Given the description of an element on the screen output the (x, y) to click on. 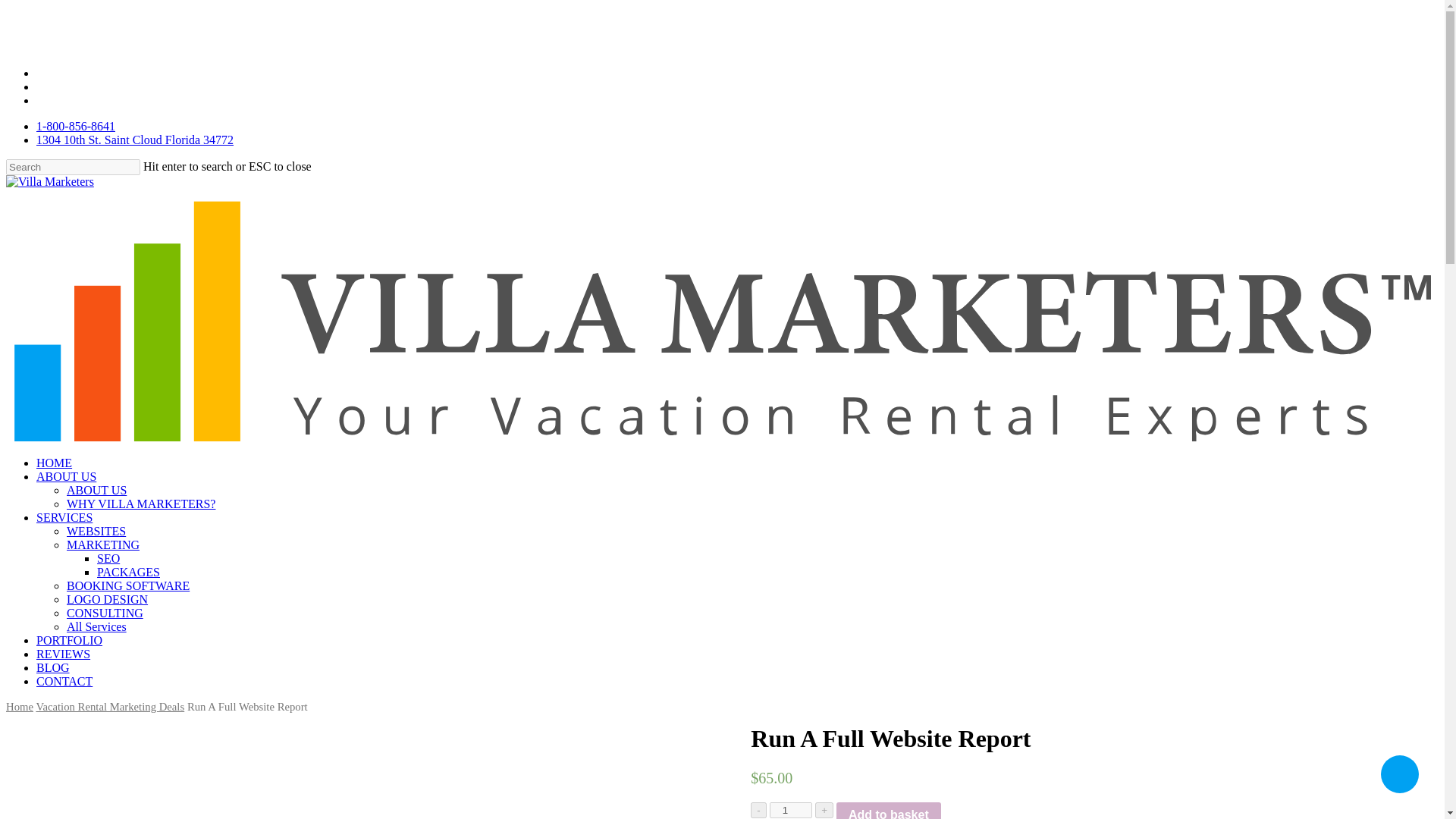
BOOKING SOFTWARE (127, 585)
Home (19, 706)
WEBSITES (95, 530)
SEO (108, 558)
- (758, 810)
PACKAGES (128, 571)
HOME (53, 462)
1-800-856-8641 (75, 125)
REVIEWS (63, 653)
CONTACT (64, 680)
